Given the description of an element on the screen output the (x, y) to click on. 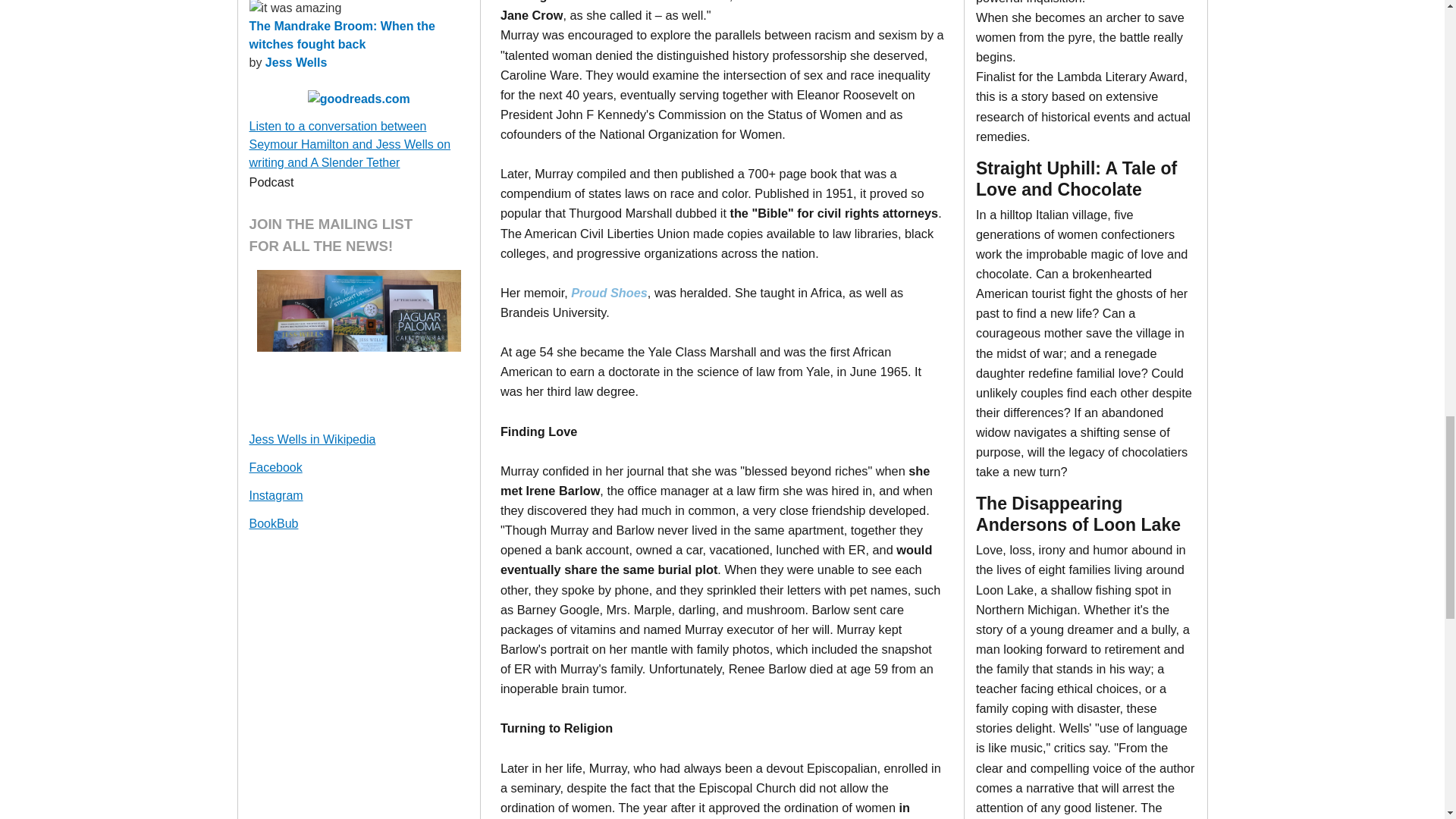
Jess Wells in Wikipedia (311, 439)
Facebook (274, 467)
Jess Wells (295, 62)
The Mandrake Broom: When the witches fought back (340, 34)
it was amazing (294, 7)
